Given the description of an element on the screen output the (x, y) to click on. 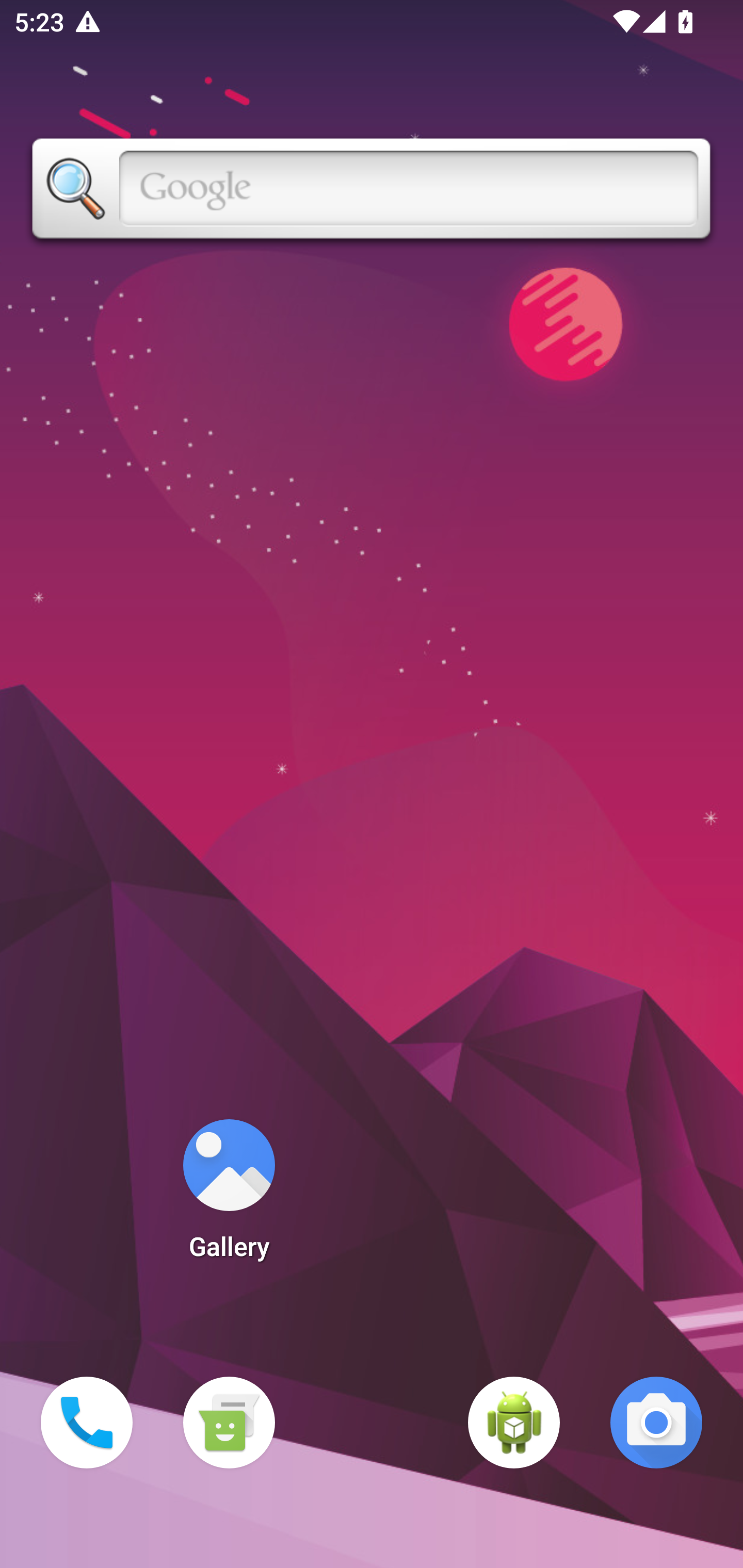
Gallery (228, 1195)
Phone (86, 1422)
Messaging (228, 1422)
WebView Browser Tester (513, 1422)
Camera (656, 1422)
